Given the description of an element on the screen output the (x, y) to click on. 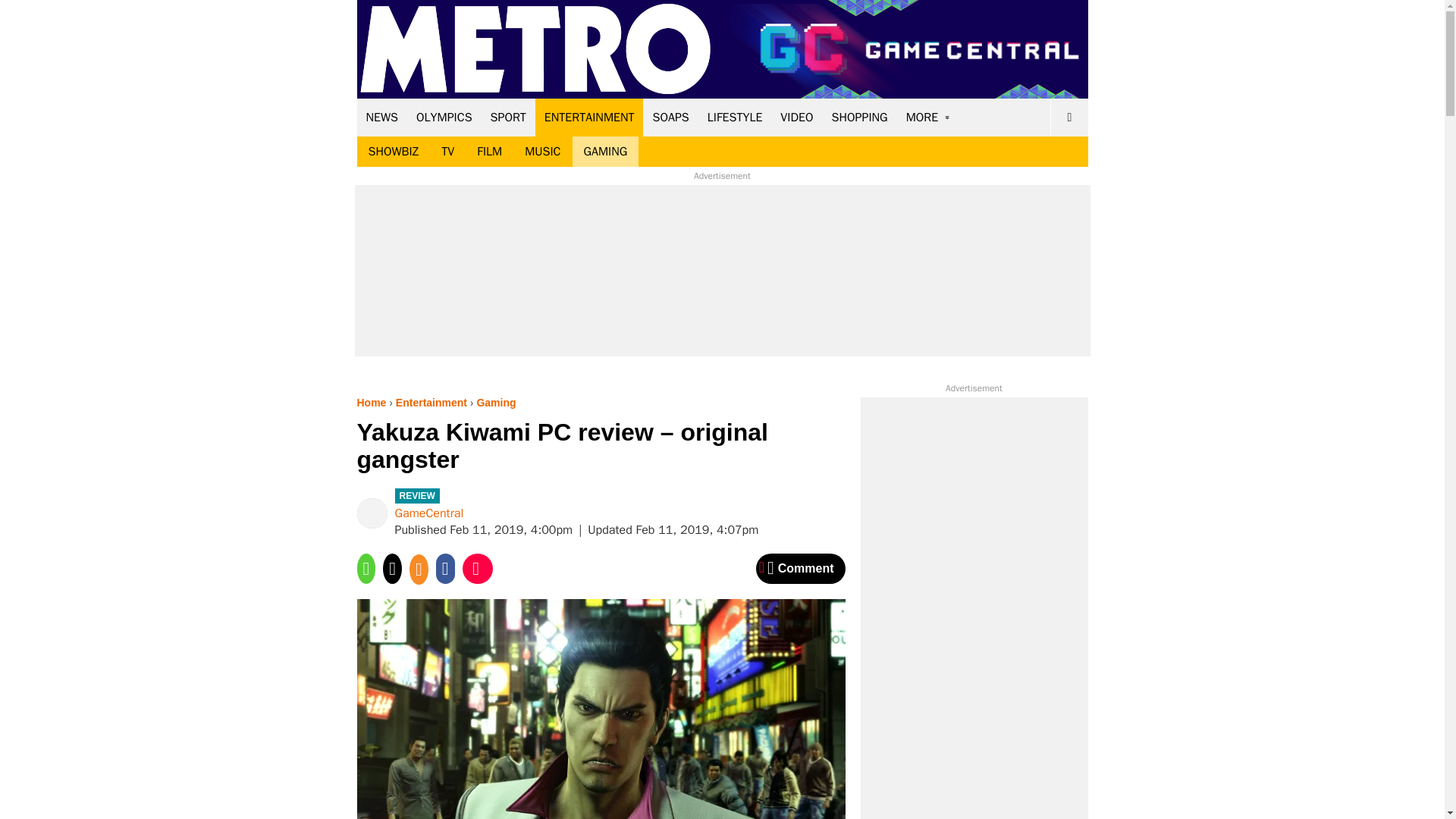
OLYMPICS (444, 117)
NEWS (381, 117)
SPORT (508, 117)
GAMING (605, 151)
SOAPS (670, 117)
SHOWBIZ (392, 151)
LIFESTYLE (734, 117)
TV (447, 151)
MUSIC (542, 151)
FILM (489, 151)
ENTERTAINMENT (589, 117)
